Given the description of an element on the screen output the (x, y) to click on. 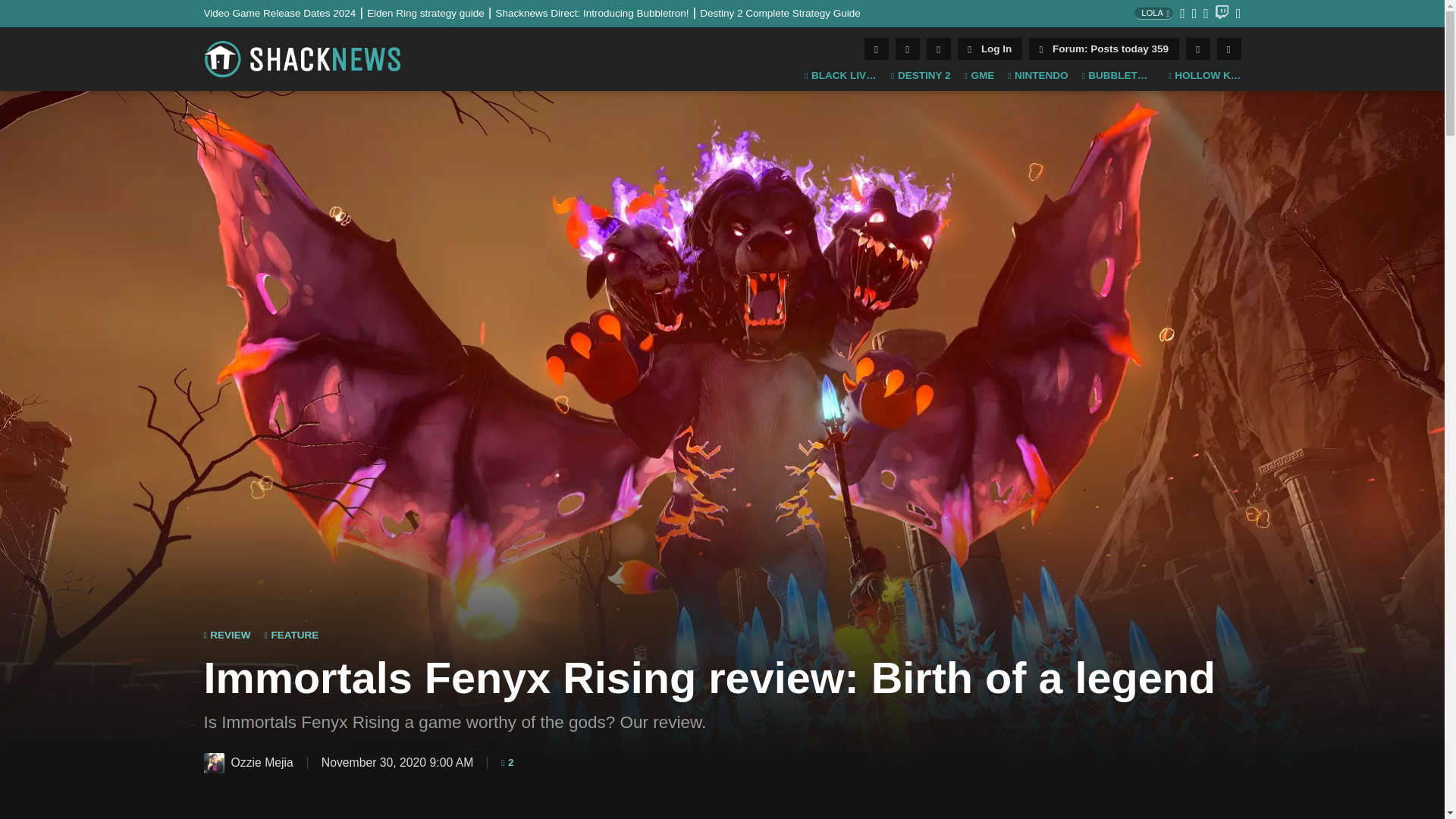
Video Game Release Dates 2024 (284, 11)
BUBBLETRON (1117, 75)
BLACK LIVES MATTER (841, 75)
DESTINY 2 (920, 75)
FEATURE (291, 634)
NINTENDO (1037, 75)
GME (978, 75)
HOLLOW KNIGHT: SILKSONG (1203, 75)
Shacknews Direct: Introducing Bubbletron! (597, 11)
Elden Ring strategy guide (430, 11)
Destiny 2 Complete Strategy Guide (780, 11)
Ozzie Mejia (213, 762)
REVIEW (226, 634)
